Given the description of an element on the screen output the (x, y) to click on. 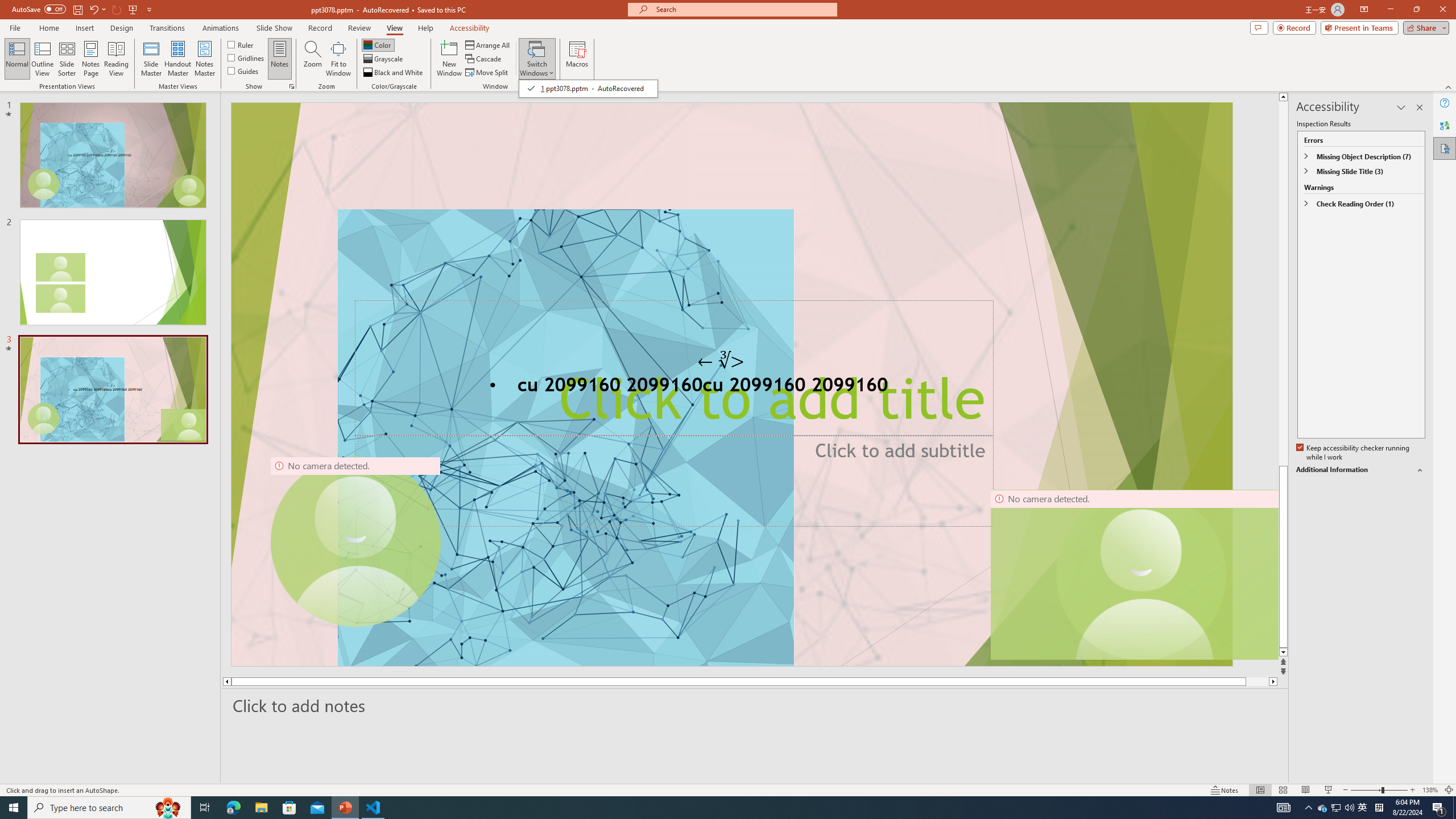
Zoom 138% (1430, 790)
Camera 9, No camera detected. (355, 542)
